Given the description of an element on the screen output the (x, y) to click on. 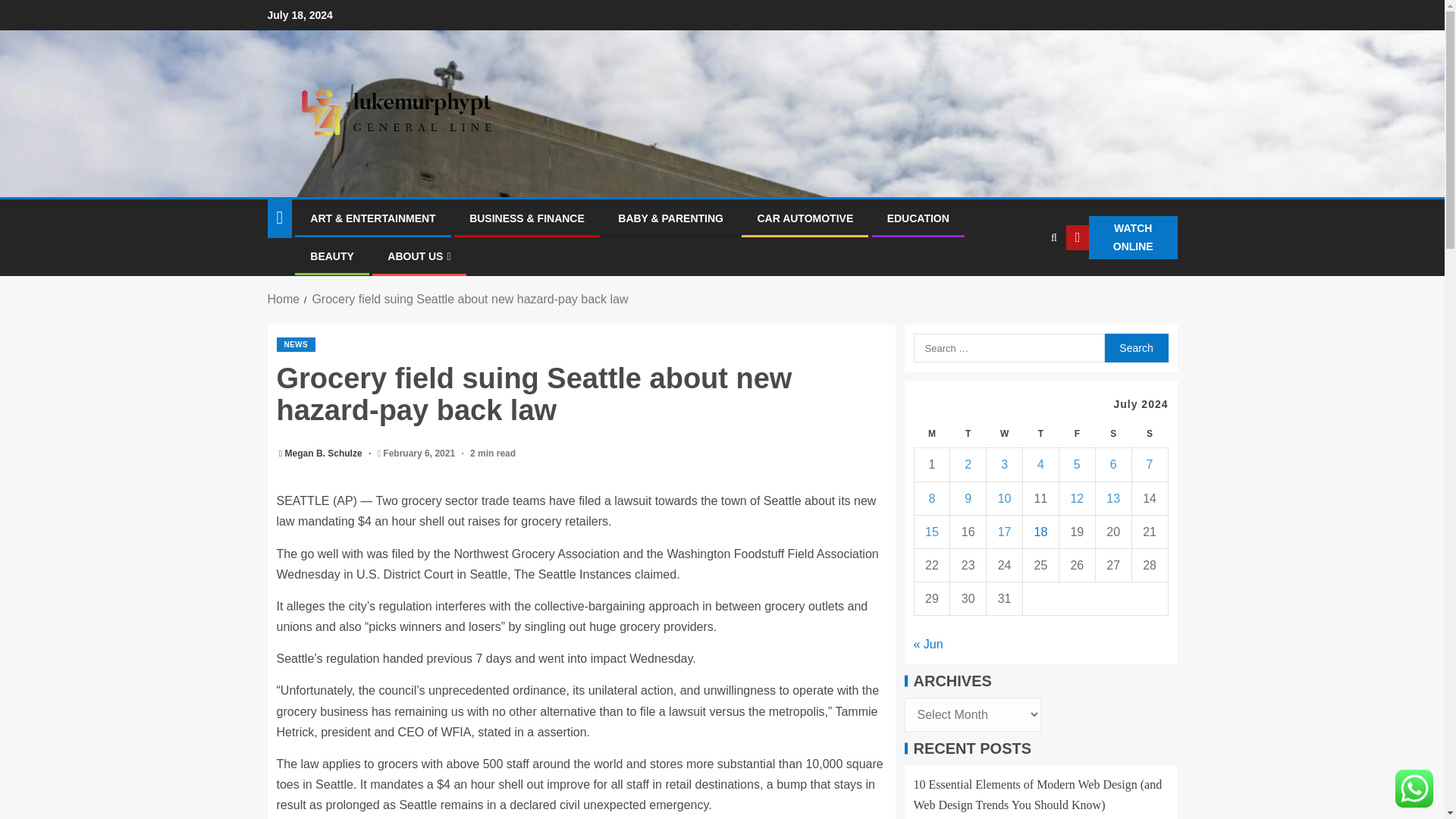
Search (1023, 284)
Monday (932, 433)
Thursday (1041, 433)
WATCH ONLINE (1120, 238)
Friday (1076, 433)
BEAUTY (331, 256)
Tuesday (968, 433)
NEWS (295, 344)
Wednesday (1005, 433)
CAR AUTOMOTIVE (805, 218)
Search (1135, 347)
Megan B. Schulze (325, 452)
ABOUT US (418, 256)
Home (282, 298)
Grocery field suing Seattle about new hazard-pay back law (469, 298)
